Given the description of an element on the screen output the (x, y) to click on. 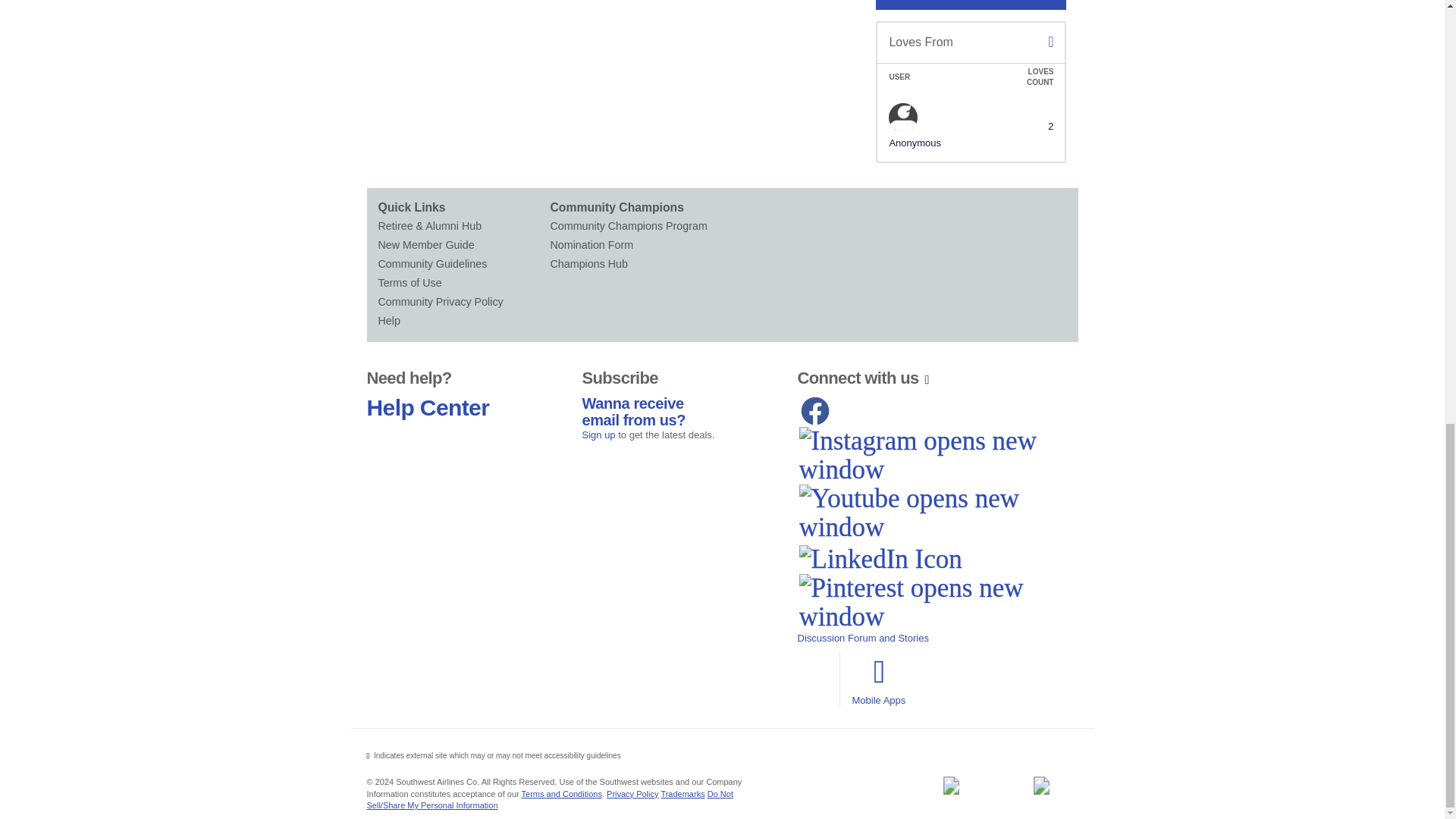
Community Privacy Policy (463, 302)
Community Guidelines (463, 263)
New Member Guide (463, 244)
Terms of Use (463, 282)
Southwest Cargo logo and link (1041, 785)
Southwest Business logo and link (950, 785)
